Given the description of an element on the screen output the (x, y) to click on. 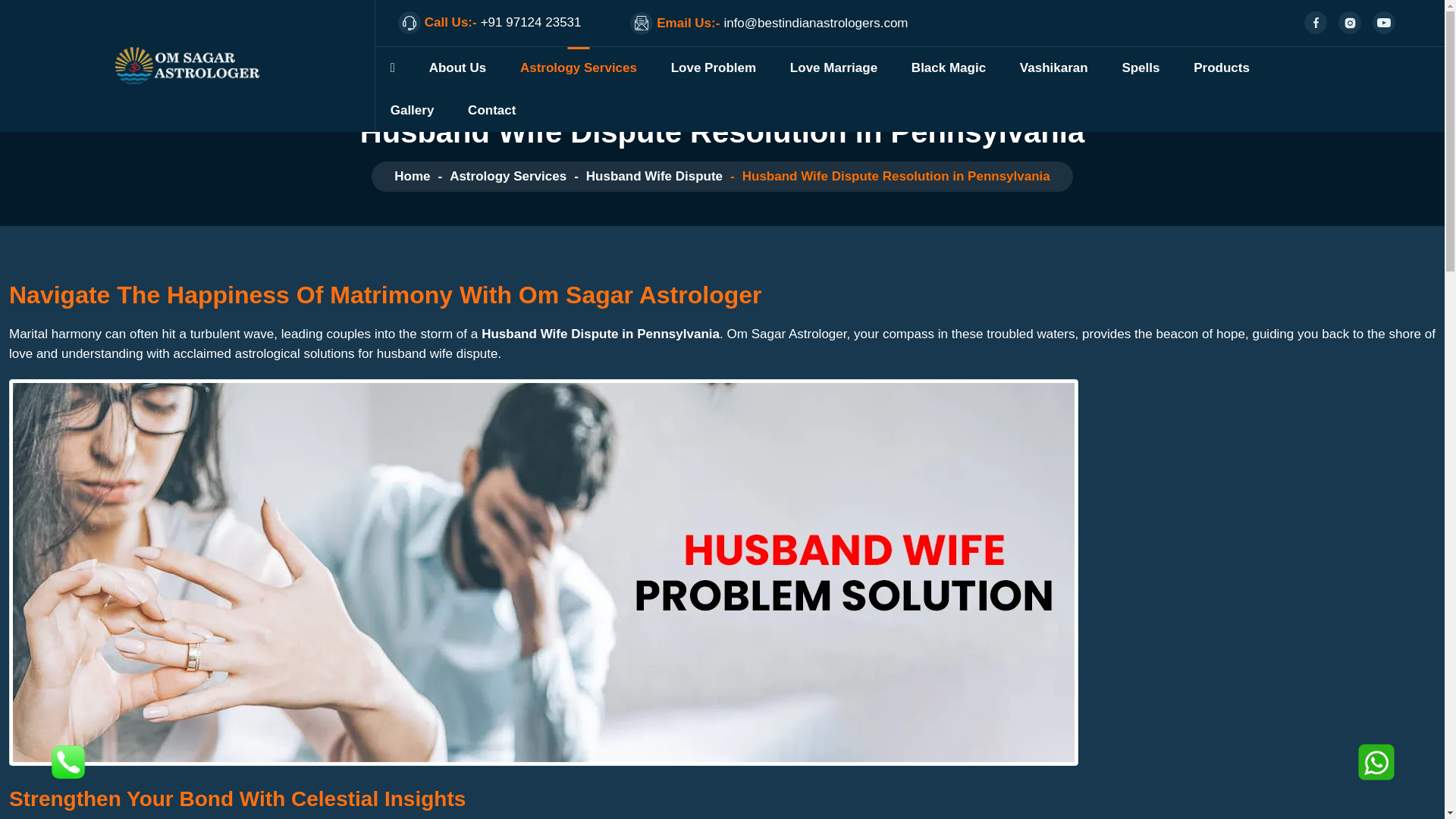
About Us (457, 67)
Astrology Services (578, 67)
